Given the description of an element on the screen output the (x, y) to click on. 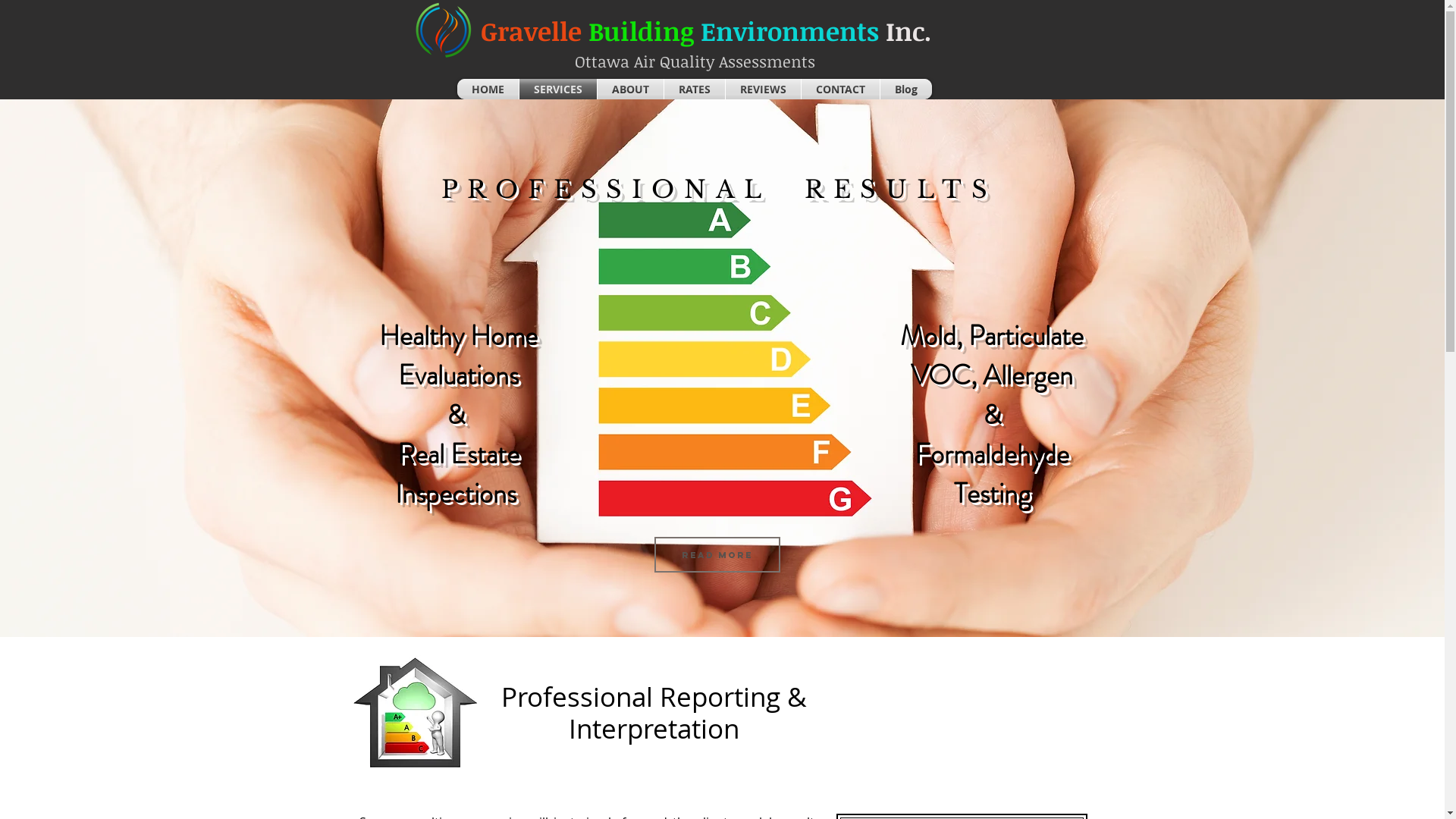
SERVICES Element type: text (557, 88)
READ MORE Element type: text (716, 554)
CONTACT Element type: text (839, 88)
ABOUT Element type: text (630, 88)
Blog Element type: text (905, 88)
RATES Element type: text (694, 88)
HOME Element type: text (486, 88)
REVIEWS Element type: text (762, 88)
